Given the description of an element on the screen output the (x, y) to click on. 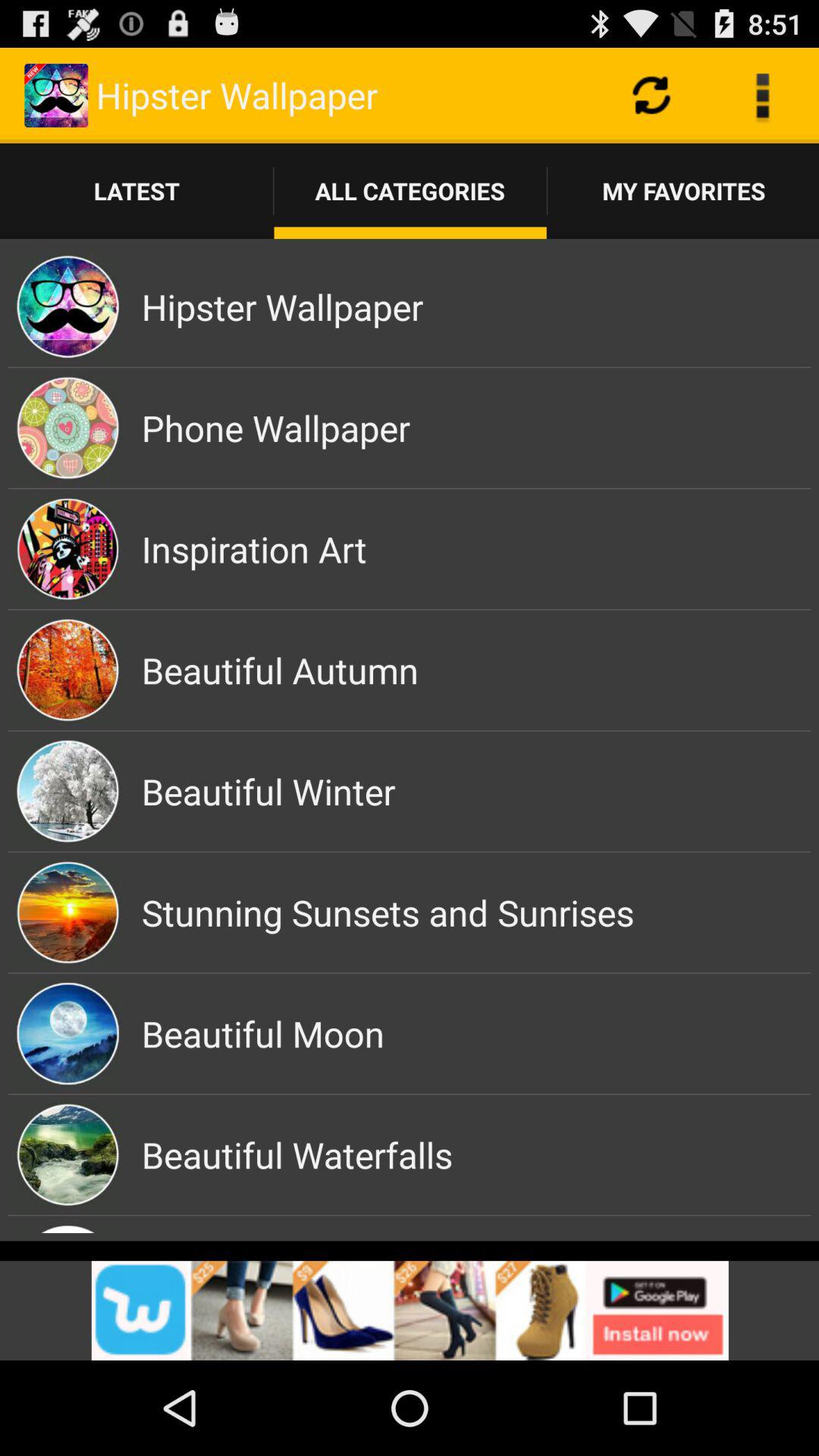
advertisements (409, 1310)
